Given the description of an element on the screen output the (x, y) to click on. 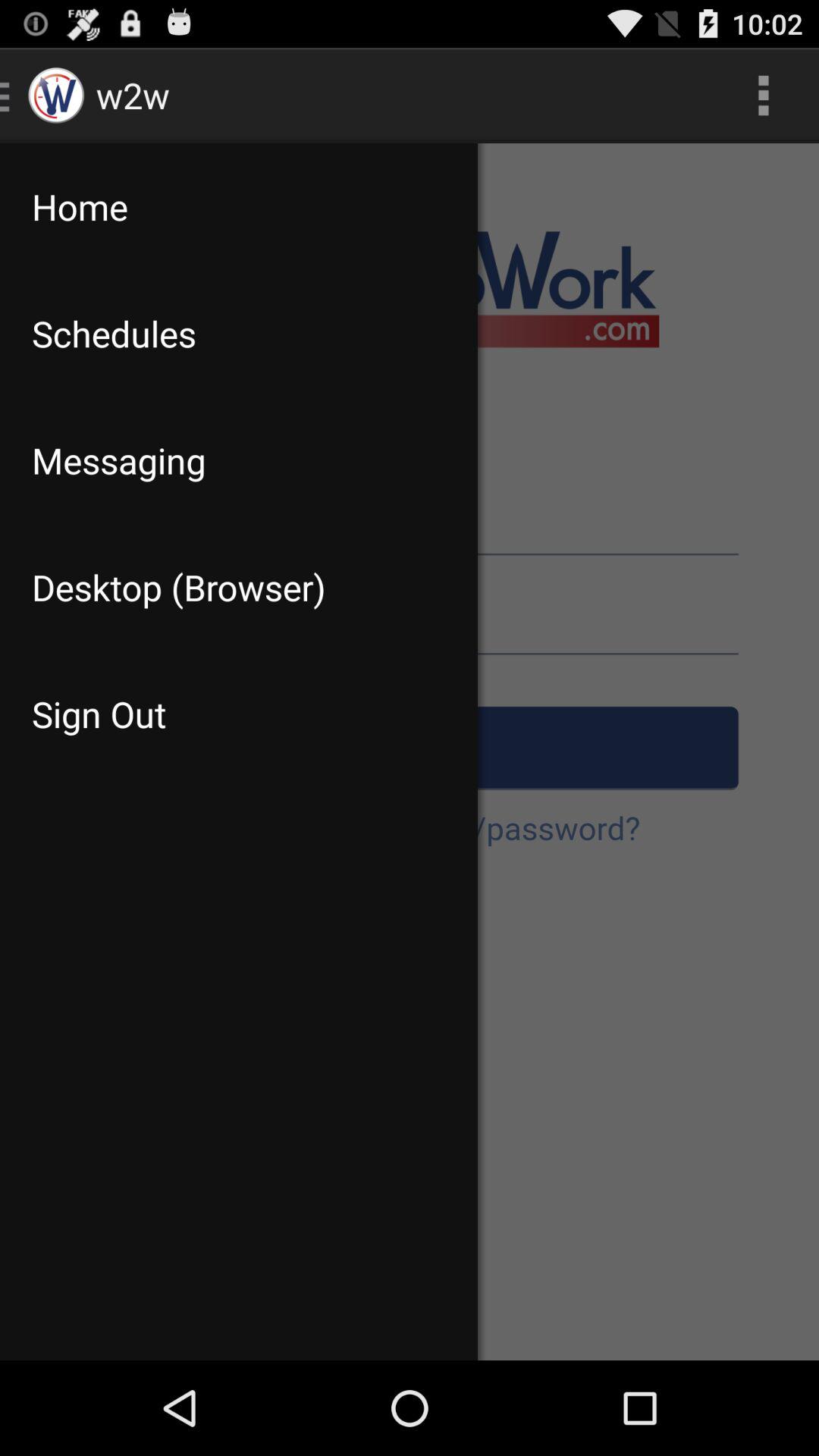
turn on icon above the sign out item (238, 587)
